Given the description of an element on the screen output the (x, y) to click on. 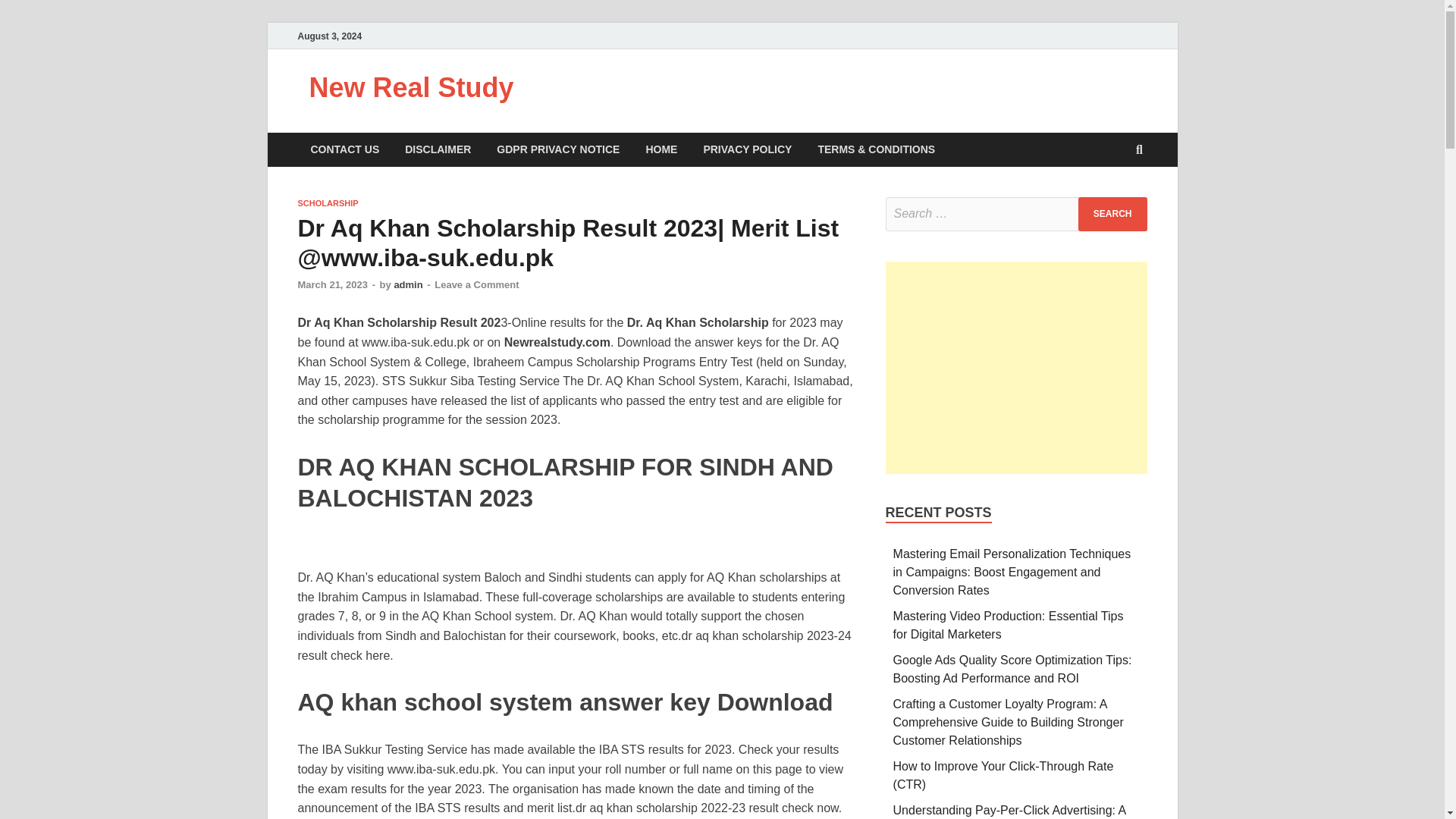
GDPR PRIVACY NOTICE (557, 149)
HOME (660, 149)
PRIVACY POLICY (747, 149)
DISCLAIMER (437, 149)
SCHOLARSHIP (327, 203)
CONTACT US (344, 149)
Search (1112, 213)
Advertisement (1016, 367)
New Real Study (410, 87)
March 21, 2023 (332, 284)
admin (407, 284)
Search (1112, 213)
Leave a Comment (475, 284)
